Given the description of an element on the screen output the (x, y) to click on. 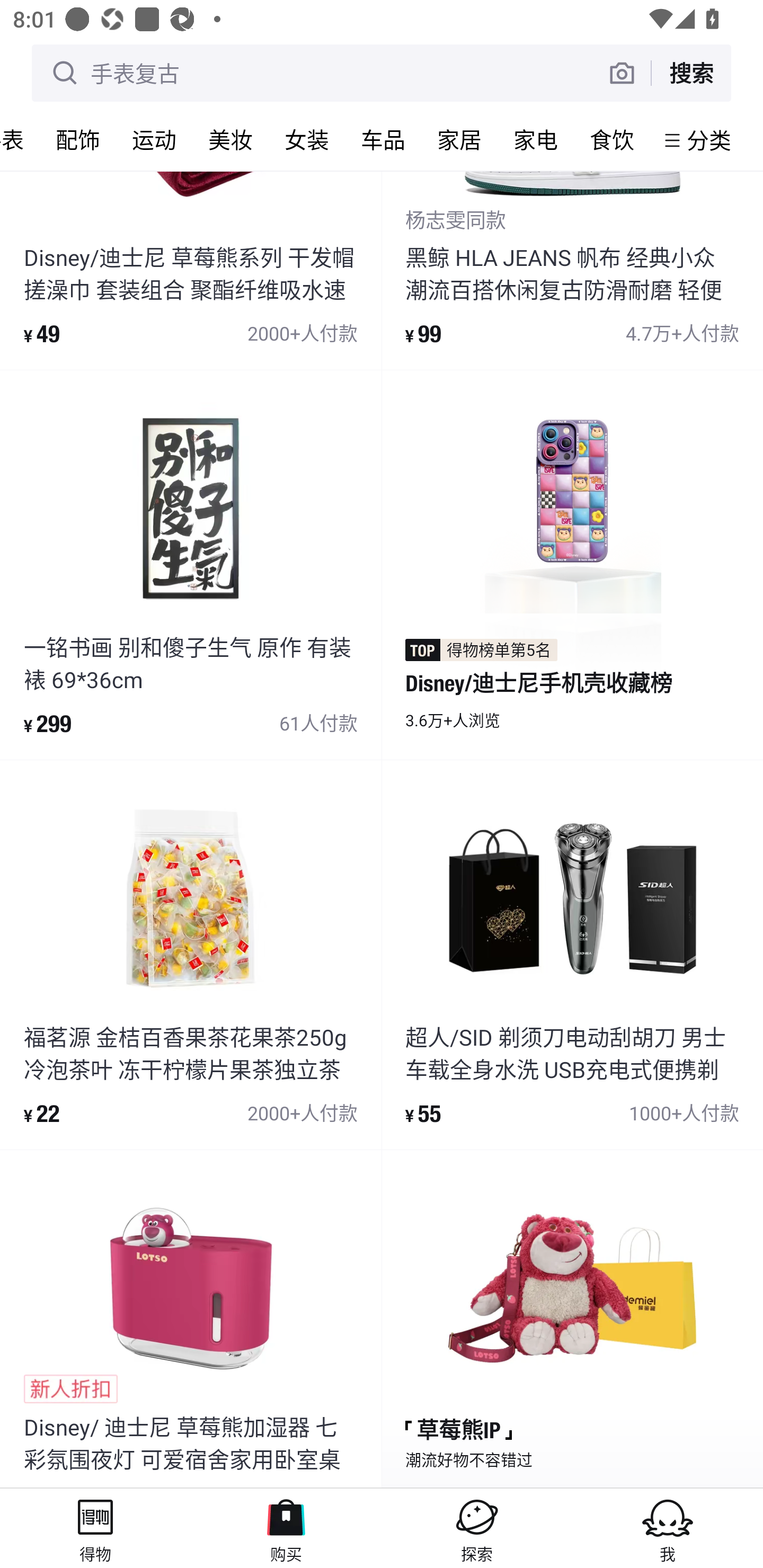
搜索 (690, 72)
配饰 (77, 139)
运动 (153, 139)
美妆 (230, 139)
女装 (306, 139)
车品 (382, 139)
家居 (459, 139)
家电 (535, 139)
食饮 (611, 139)
分类 (708, 139)
得物榜单第5名 Disney/迪士尼手机壳收藏榜 3.6万+人浏览 (572, 564)
草莓熊IP 潮流好物不容错过 (572, 1318)
得物 (95, 1528)
购买 (285, 1528)
探索 (476, 1528)
我 (667, 1528)
